Given the description of an element on the screen output the (x, y) to click on. 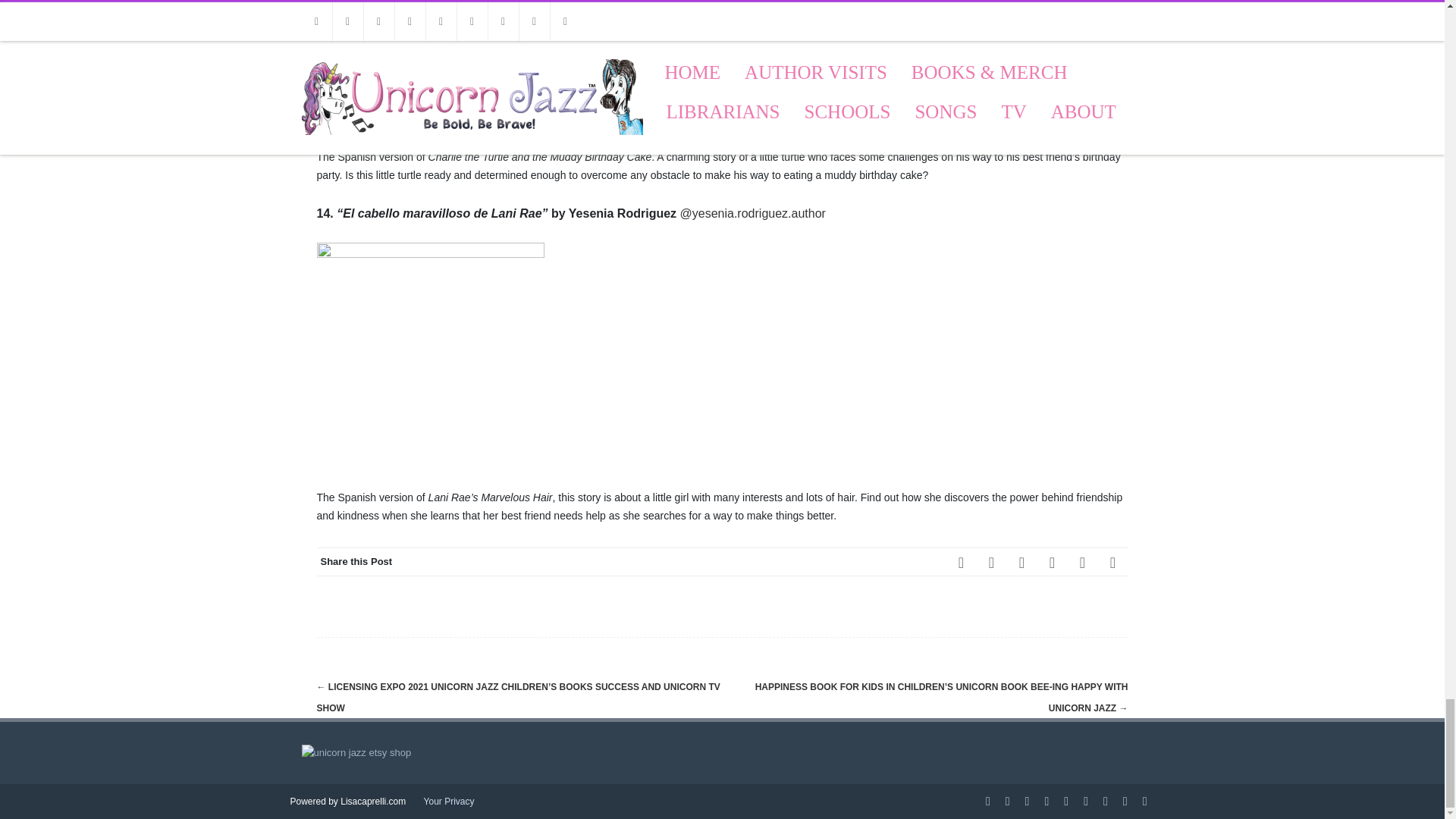
LinkedIn (1051, 562)
Pinterest (1021, 562)
Email (1112, 562)
Twitter (991, 562)
Facebook (961, 562)
RSS (1082, 562)
